Given the description of an element on the screen output the (x, y) to click on. 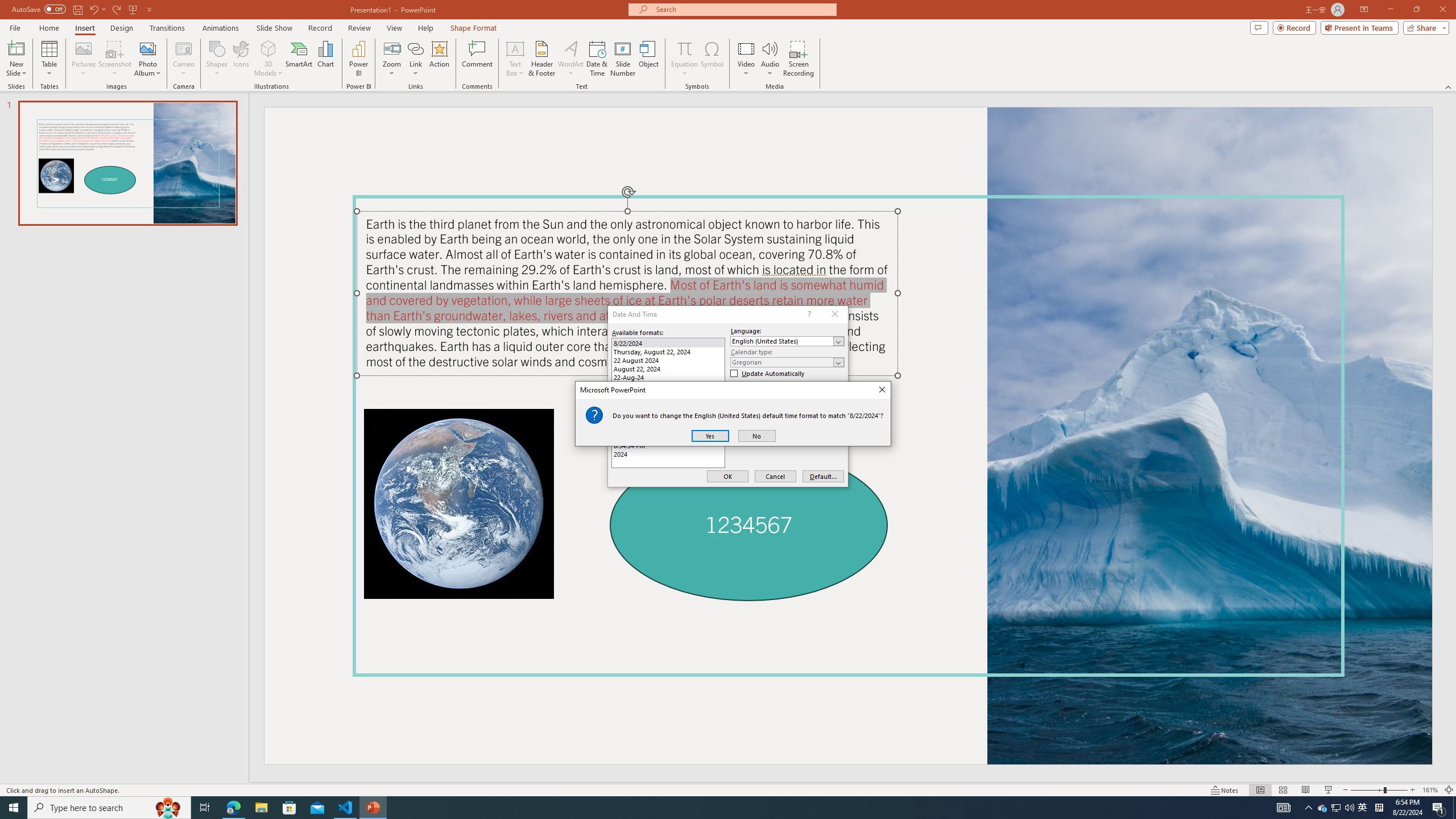
Slide Sorter (1282, 790)
Redo (117, 9)
Equation (683, 58)
Cancel (775, 476)
Date & Time... (596, 58)
Microsoft Store (289, 807)
More Options (683, 68)
Microsoft search (742, 9)
Shape Format (473, 28)
Slide Number (622, 58)
Action Center, 1 new notification (1439, 807)
Animations (220, 28)
Tray Input Indicator - Chinese (Simplified, China) (1378, 807)
Comment (476, 58)
